Given the description of an element on the screen output the (x, y) to click on. 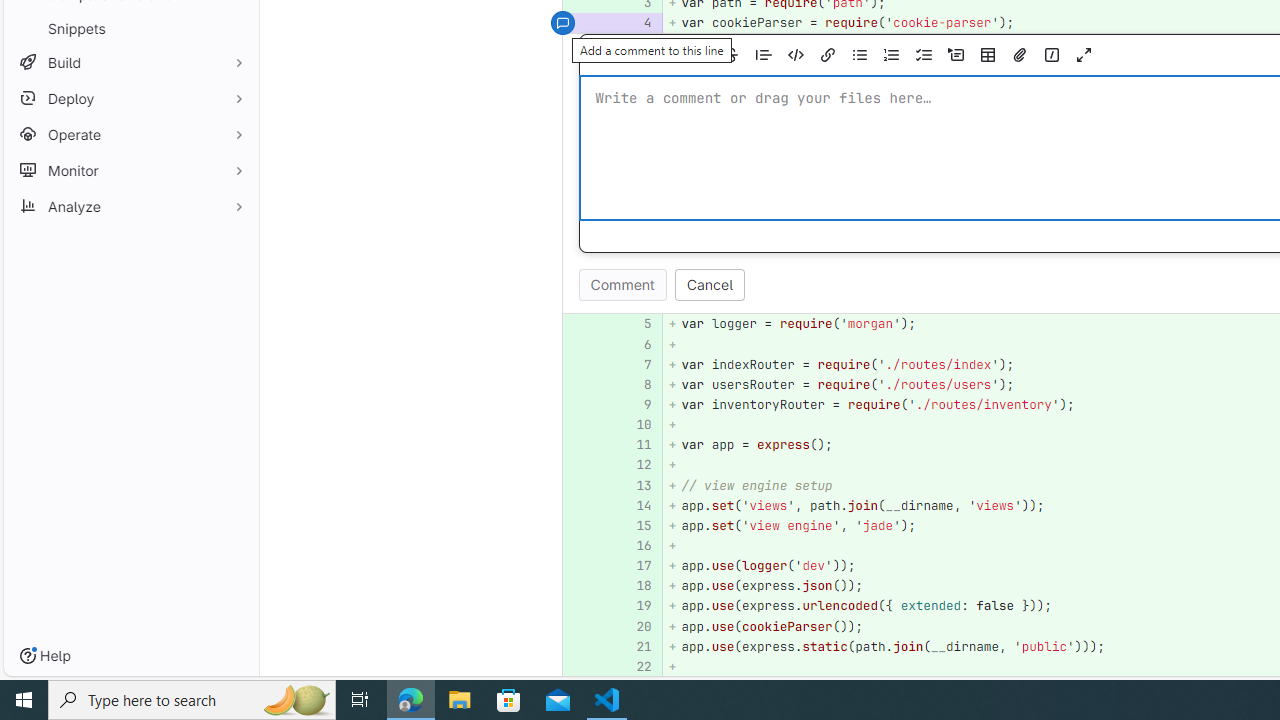
Class: s16 gl-icon gl-button-icon  (1083, 55)
Operate (130, 134)
4 (633, 22)
Add bold text (Ctrl+B) (667, 55)
18 (637, 586)
13 (633, 485)
5 (633, 323)
12 (637, 465)
Deploy (130, 98)
Monitor (130, 170)
4 (637, 22)
15 (633, 524)
16 (633, 545)
